Given the description of an element on the screen output the (x, y) to click on. 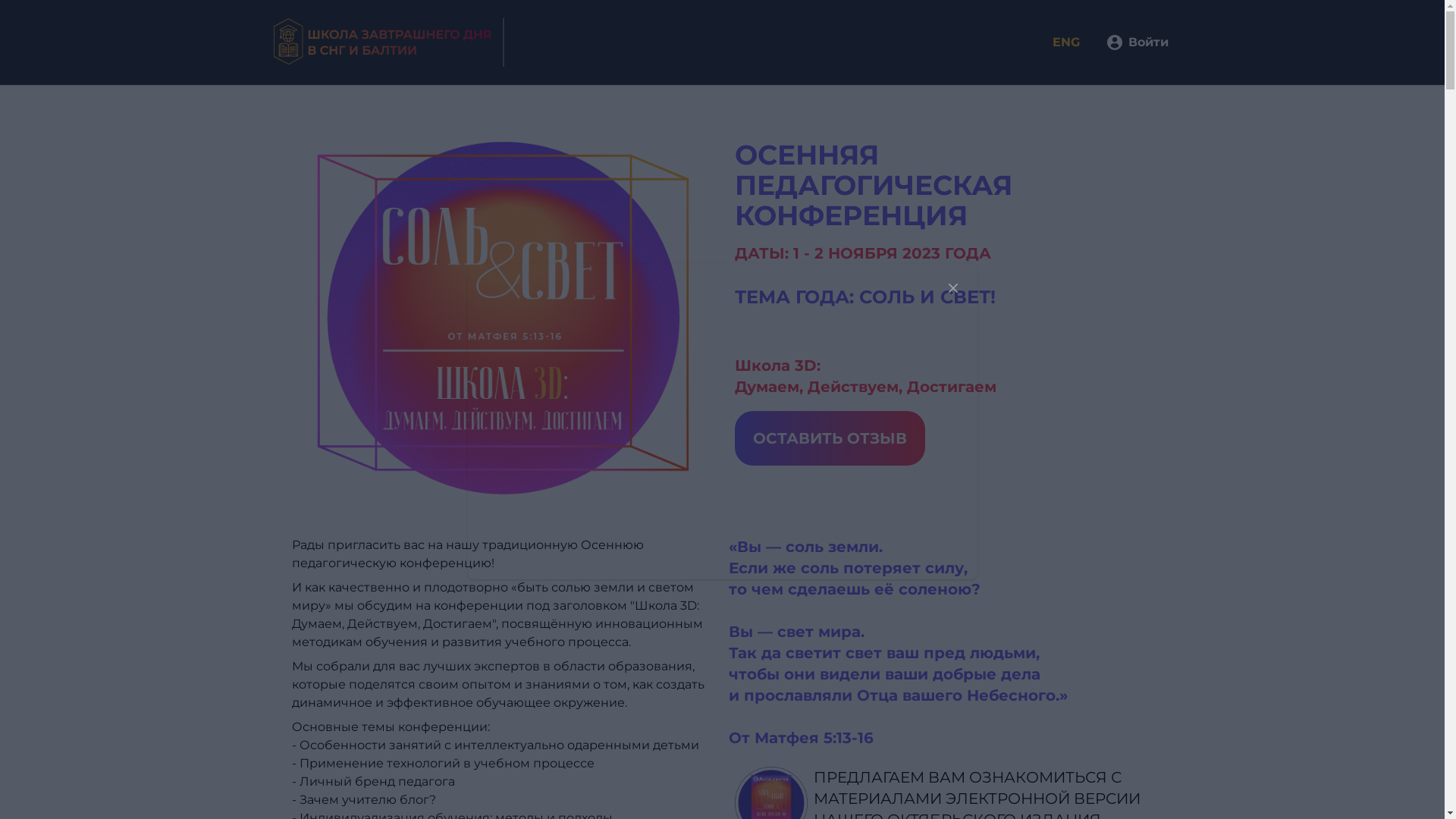
YouTube video player Element type: hover (721, 421)
ENG Element type: text (1076, 42)
